Given the description of an element on the screen output the (x, y) to click on. 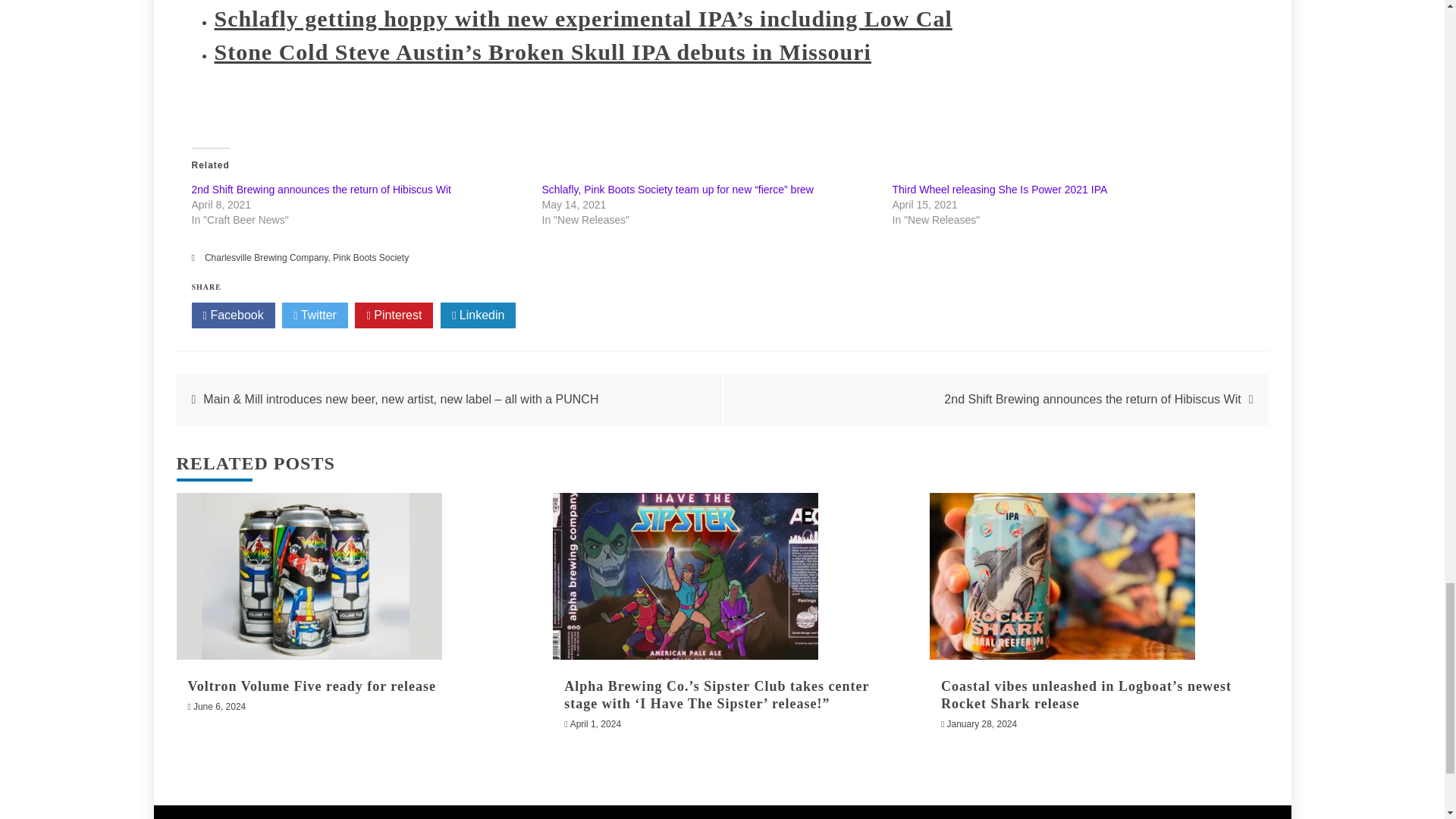
2nd Shift Brewing announces the return of Hibiscus Wit (319, 189)
Third Wheel releasing She Is Power 2021 IPA (998, 189)
Twitter (314, 315)
Charlesville Brewing Company (267, 257)
Facebook (232, 315)
Pink Boots Society (371, 257)
Third Wheel releasing She Is Power 2021 IPA (998, 189)
2nd Shift Brewing announces the return of Hibiscus Wit (319, 189)
